Given the description of an element on the screen output the (x, y) to click on. 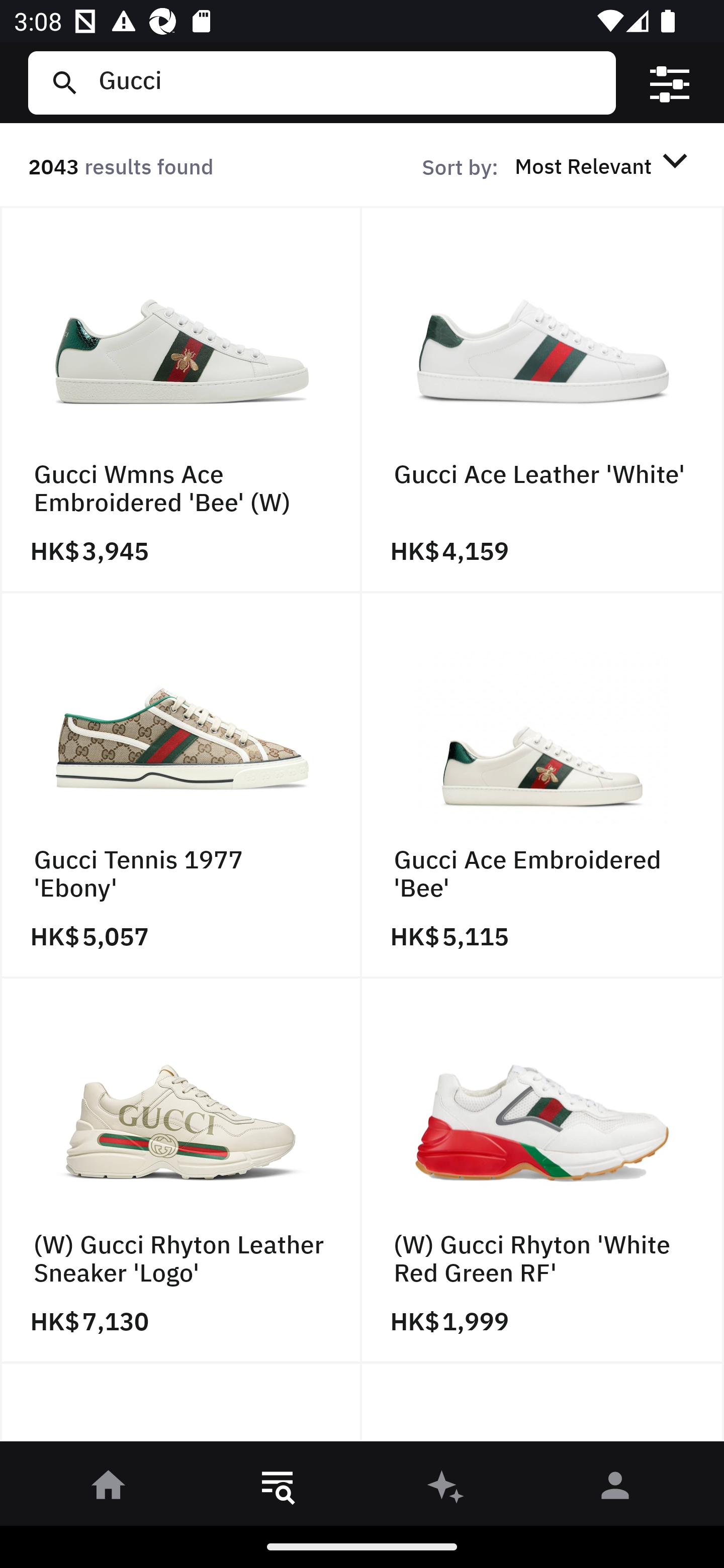
Gucci (349, 82)
 (669, 82)
Most Relevant  (604, 165)
Gucci Wmns Ace Embroidered 'Bee' (W) HK$ 3,945 (181, 399)
Gucci Ace Leather 'White' HK$ 4,159 (543, 399)
Gucci Tennis 1977 'Ebony' HK$ 5,057 (181, 785)
Gucci Ace Embroidered 'Bee' HK$ 5,115 (543, 785)
(W) Gucci Rhyton Leather Sneaker 'Logo' HK$ 7,130 (181, 1171)
(W) Gucci Rhyton 'White Red Green RF' HK$ 1,999 (543, 1171)
󰋜 (108, 1488)
󱎸 (277, 1488)
󰫢 (446, 1488)
󰀄 (615, 1488)
